Given the description of an element on the screen output the (x, y) to click on. 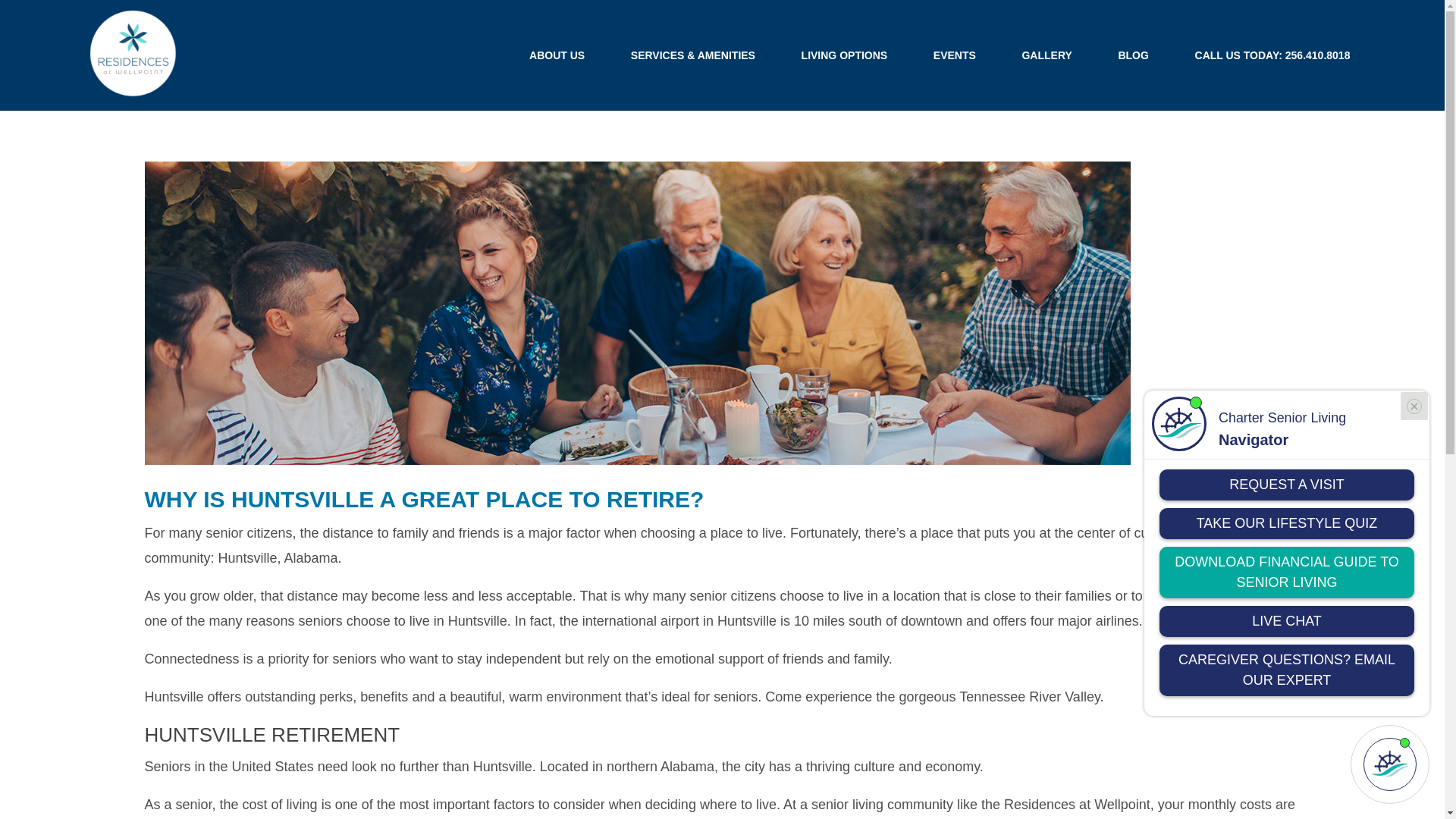
ABOUT US (557, 54)
